Given the description of an element on the screen output the (x, y) to click on. 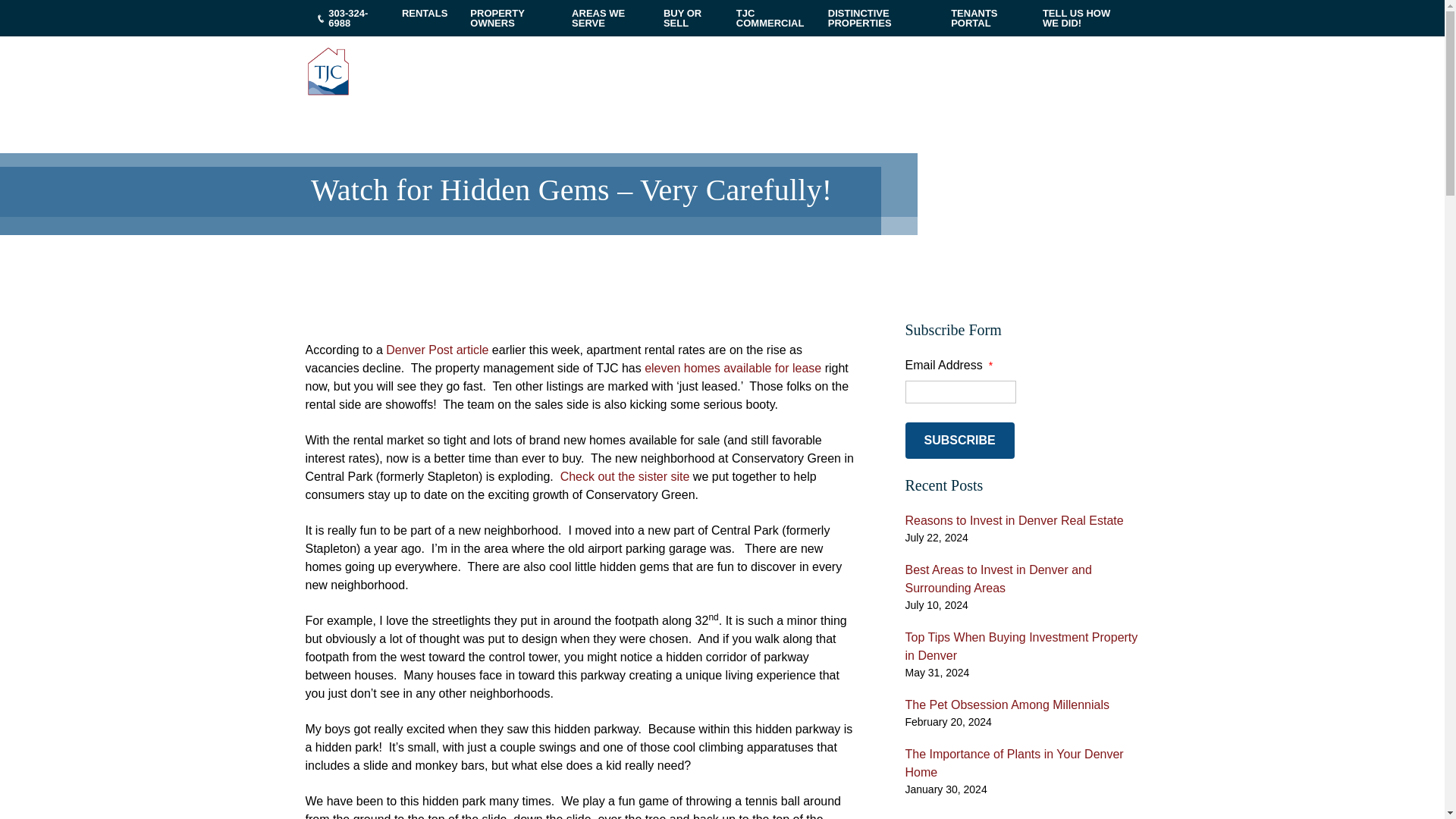
TELL US HOW WE DID! (1085, 18)
RENTALS (424, 13)
BUY OR SELL (688, 18)
TENANTS PORTAL (984, 18)
AREAS WE SERVE (606, 18)
TJC COMMERCIAL (770, 18)
303-324-6988 (347, 18)
DISTINCTIVE PROPERTIES (877, 18)
Subscribe (959, 440)
PROPERTY OWNERS (509, 18)
